Given the description of an element on the screen output the (x, y) to click on. 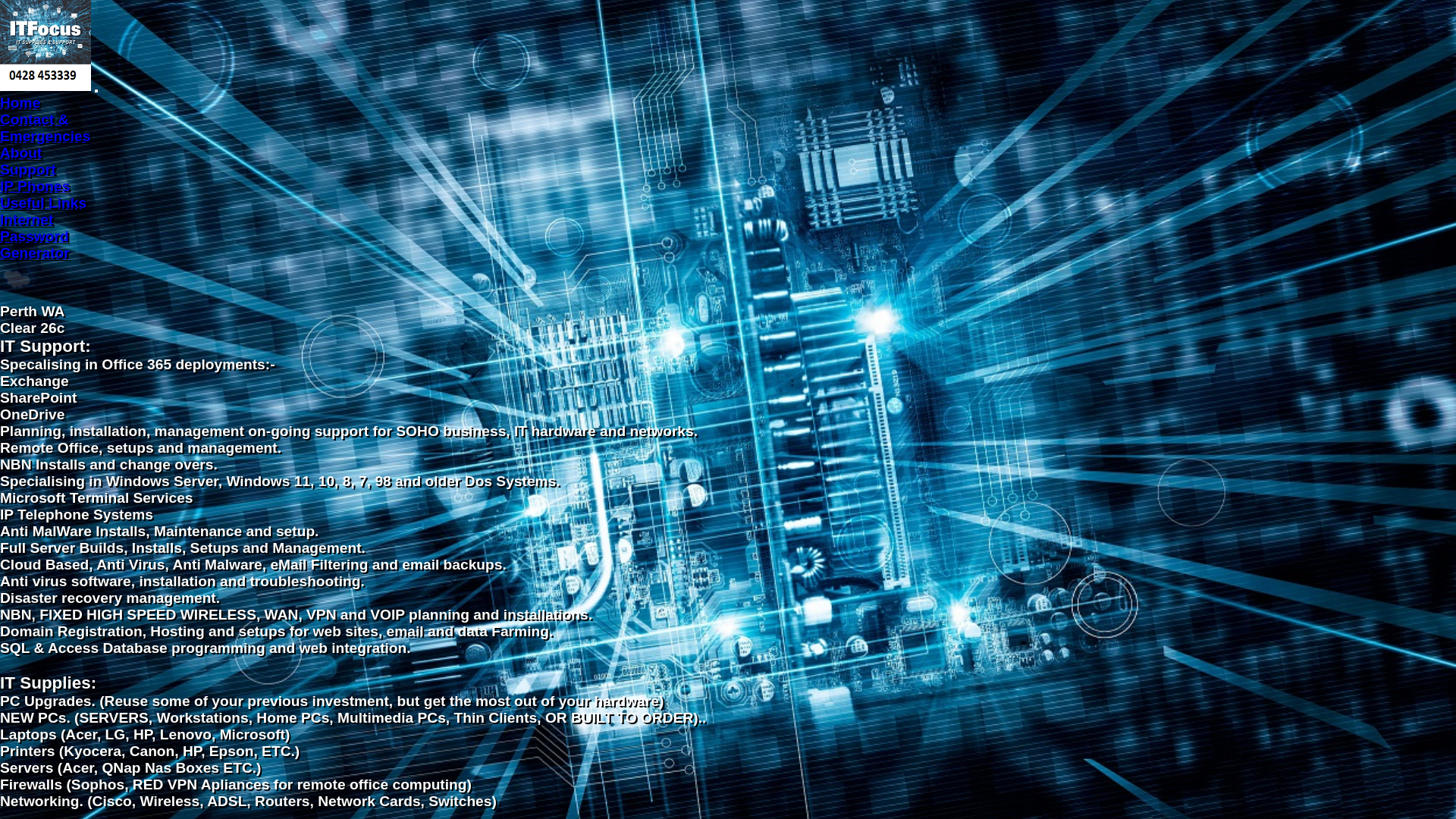
Password
Generator Element type: text (34, 244)
Internet Element type: text (26, 219)
Support Element type: text (28, 169)
About Element type: text (20, 152)
Useful Links Element type: text (43, 202)
IP Phones Element type: text (34, 186)
Contact &
Emergencies Element type: text (45, 127)
Home Element type: text (20, 102)
